Given the description of an element on the screen output the (x, y) to click on. 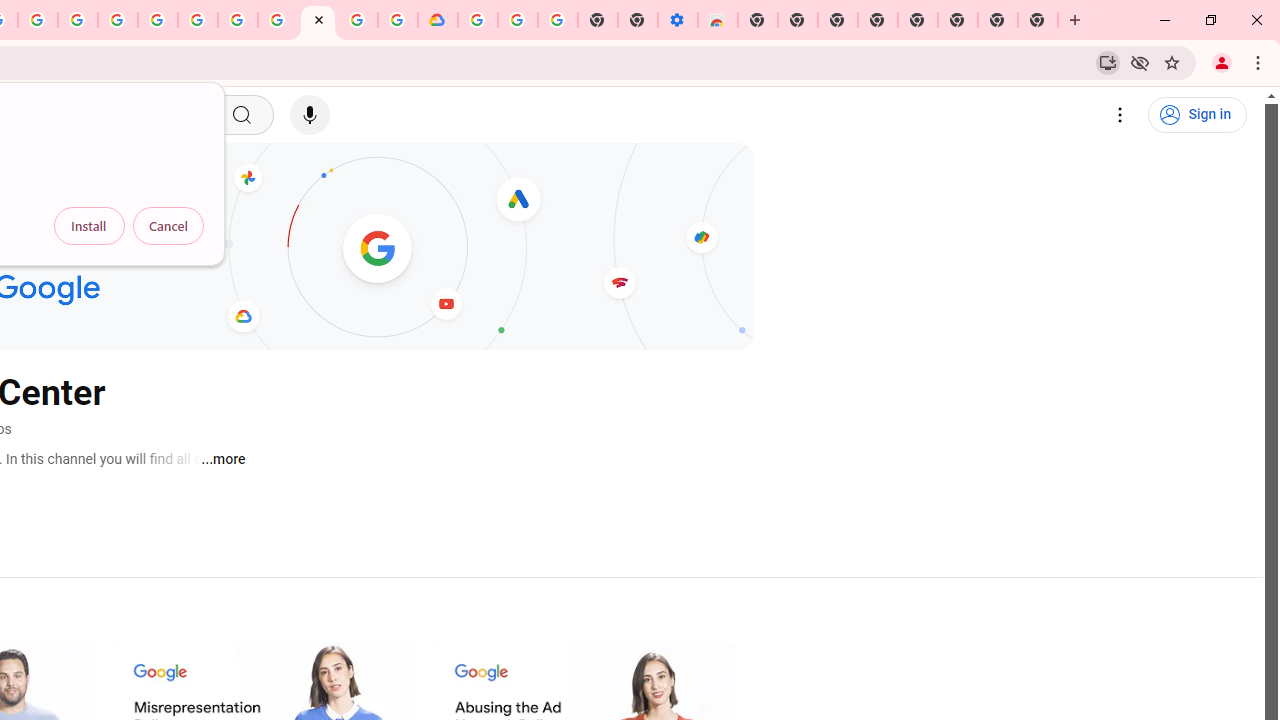
Chrome Web Store - Accessibility extensions (717, 20)
Create your Google Account (357, 20)
Install (89, 225)
Install YouTube (1107, 62)
Ad Settings (118, 20)
Sign in - Google Accounts (157, 20)
Google Account Help (517, 20)
Settings (1119, 115)
